Given the description of an element on the screen output the (x, y) to click on. 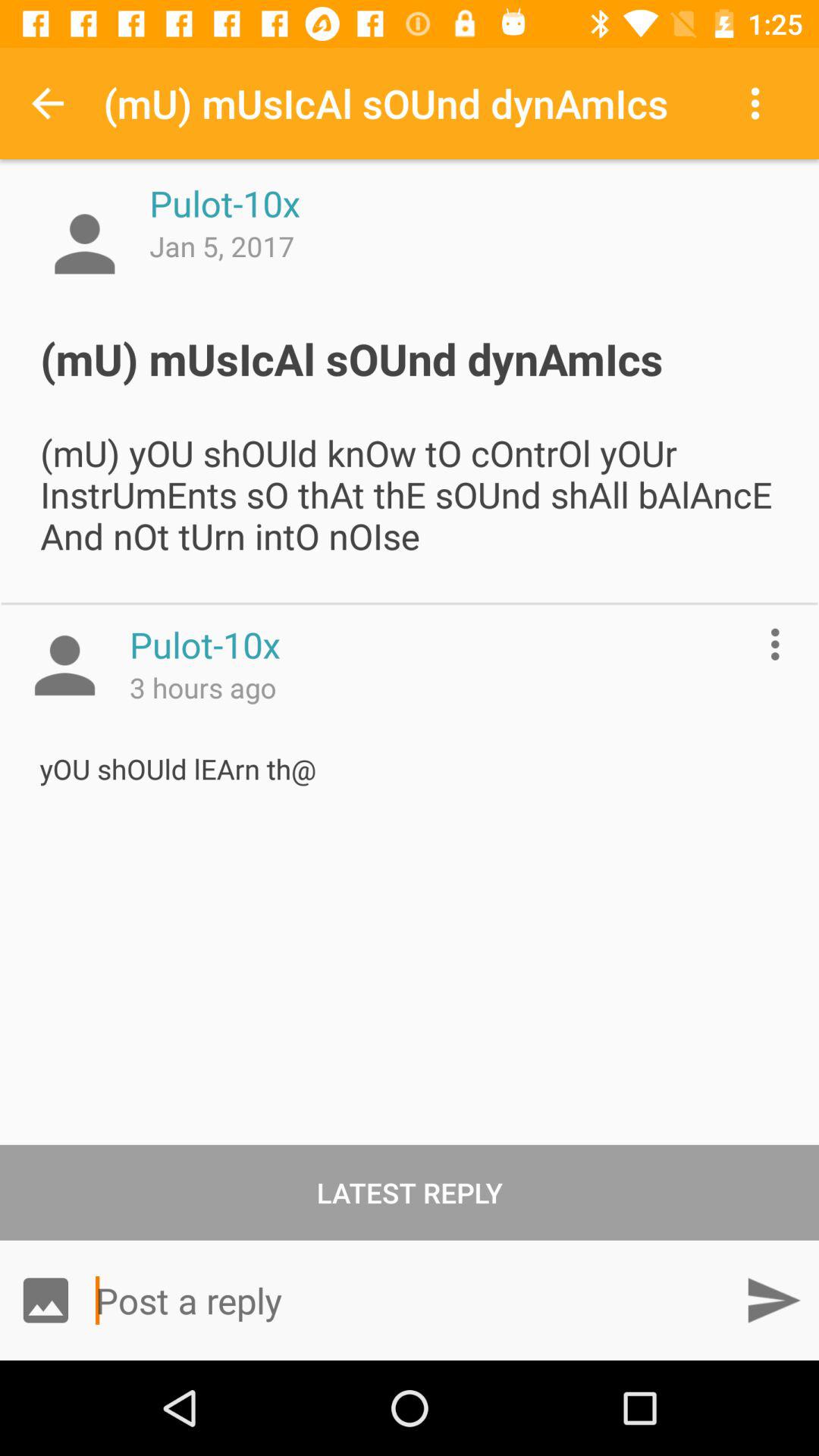
send reply (773, 1300)
